Given the description of an element on the screen output the (x, y) to click on. 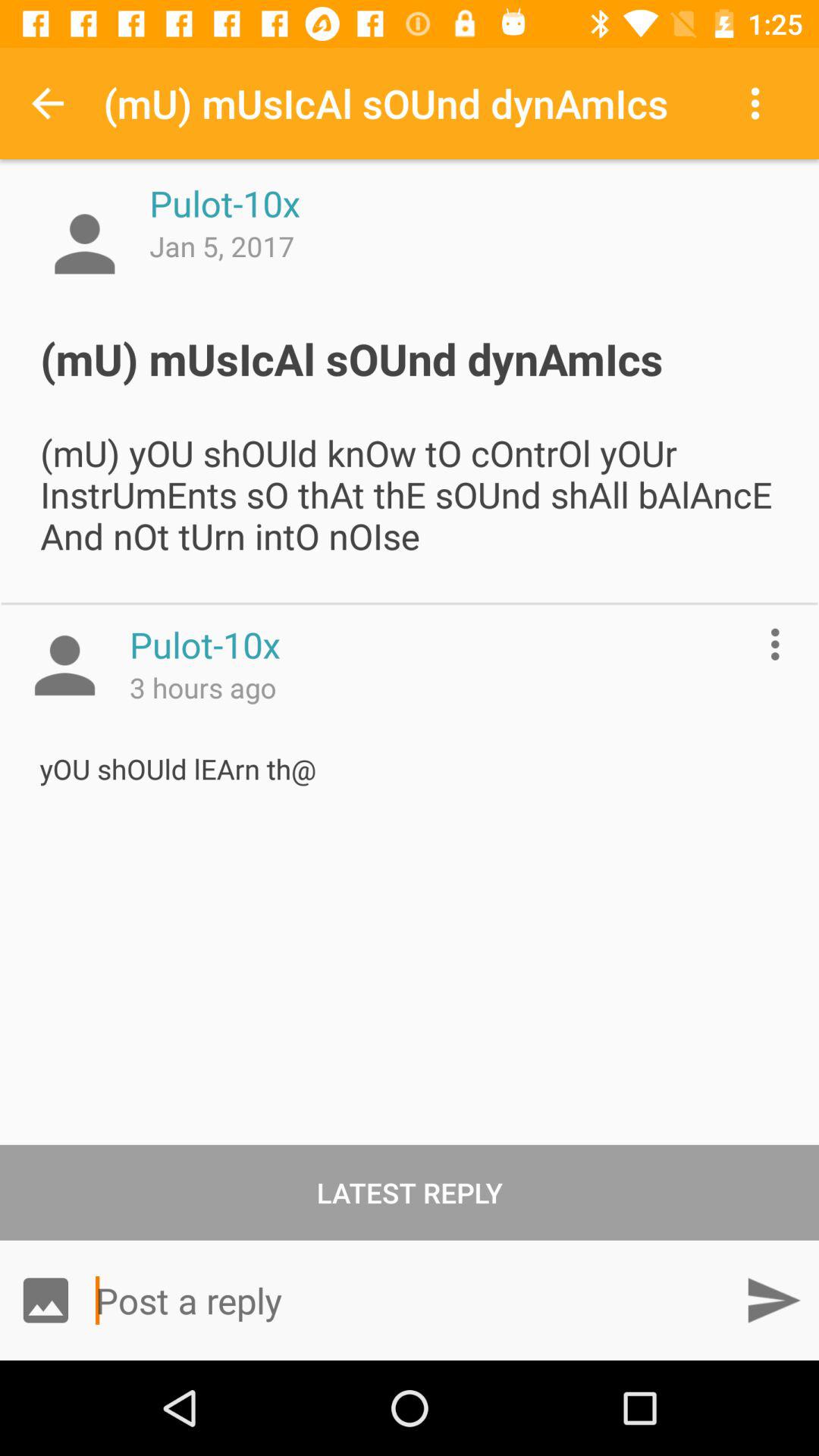
send reply (773, 1300)
